Given the description of an element on the screen output the (x, y) to click on. 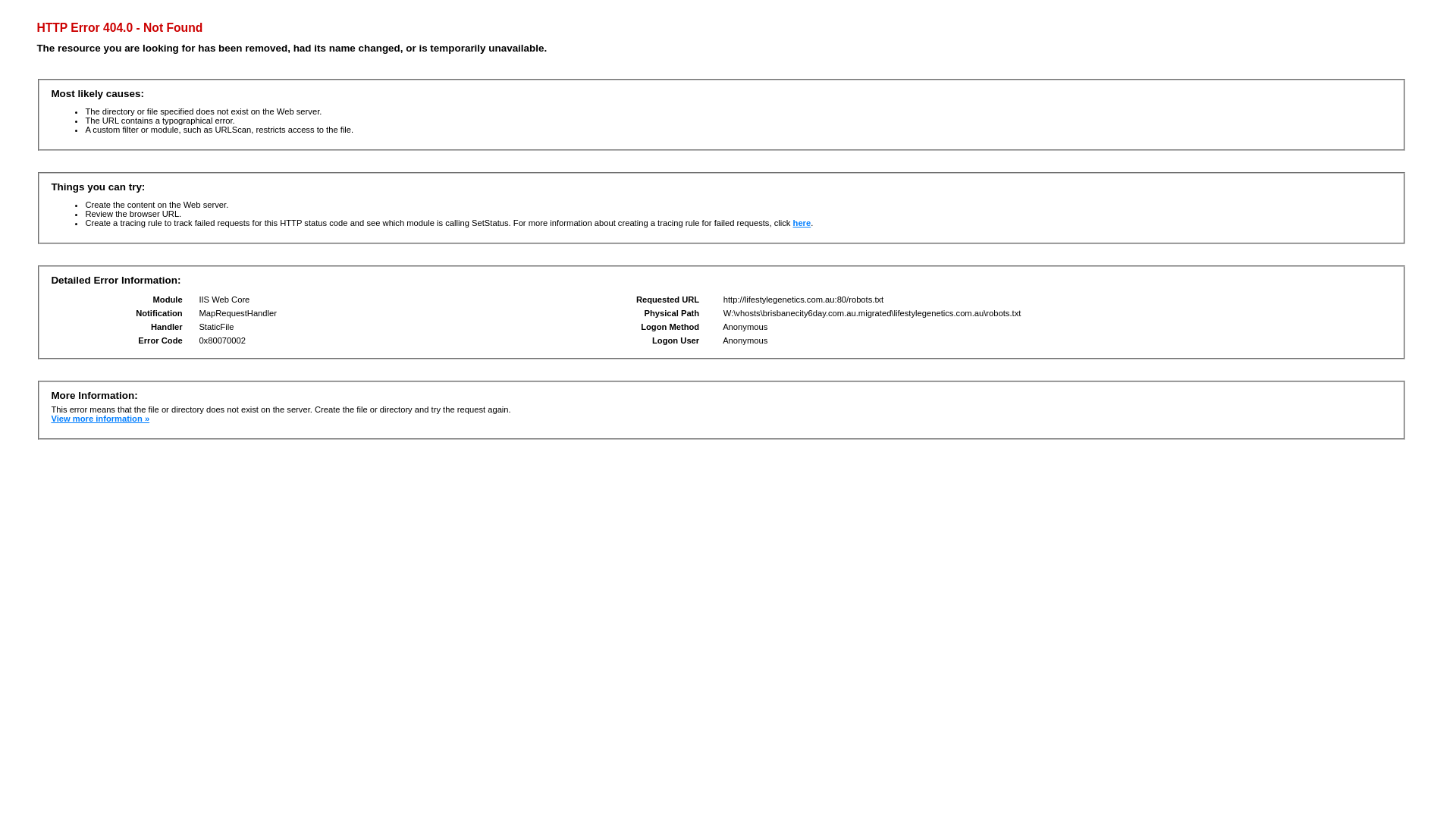
here Element type: text (802, 222)
